Given the description of an element on the screen output the (x, y) to click on. 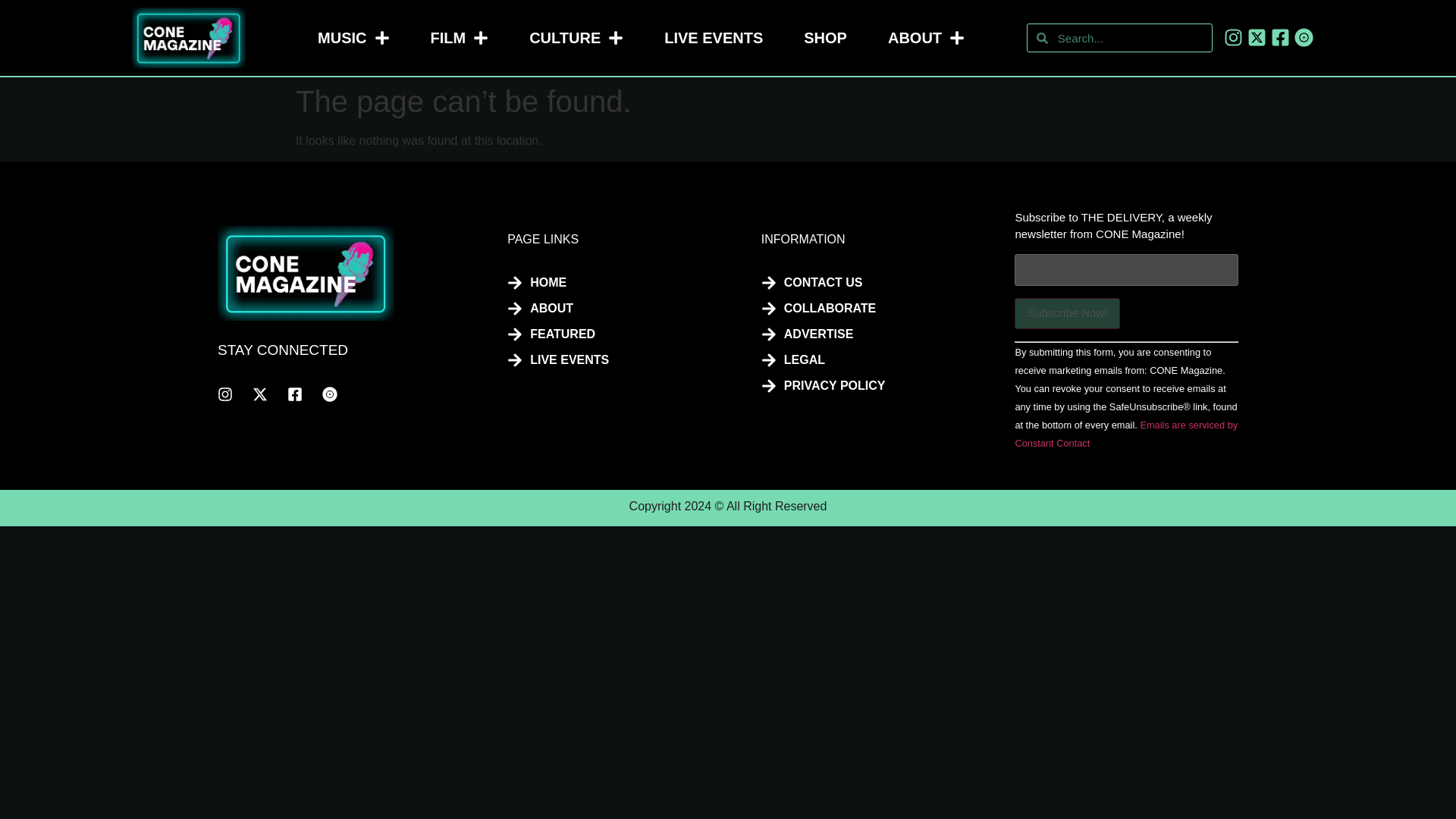
LIVE EVENTS (713, 37)
FILM (459, 37)
CULTURE (576, 37)
Subscribe Now! (1066, 313)
ABOUT (926, 37)
SHOP (825, 37)
MUSIC (353, 37)
